Given the description of an element on the screen output the (x, y) to click on. 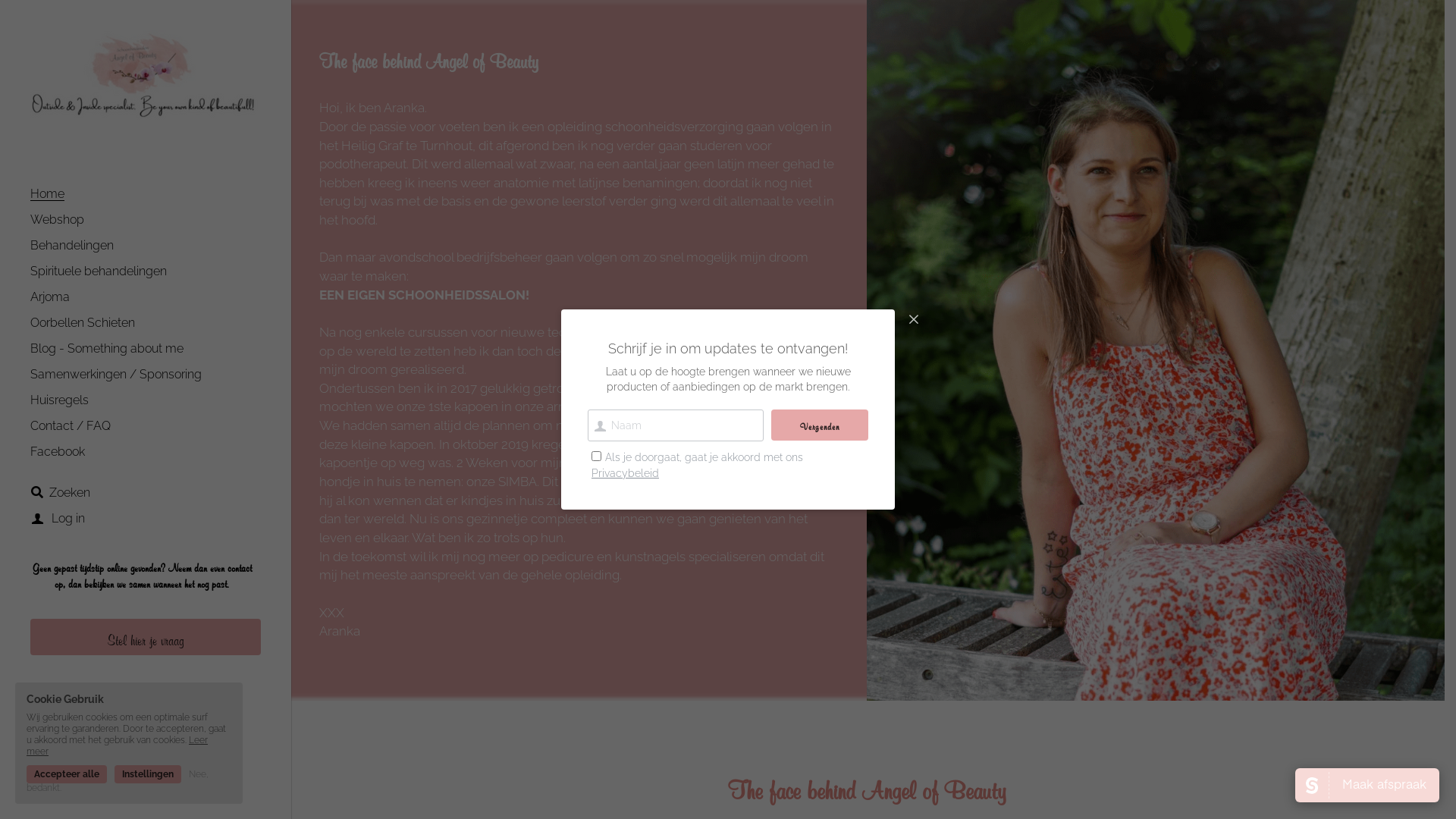
Webshop Element type: text (57, 219)
Stel hier je vraag Element type: text (145, 636)
Samenwerkingen / Sponsoring Element type: text (115, 373)
Huisregels Element type: text (59, 399)
Blog - Something about me Element type: text (106, 348)
Zoeken Element type: text (60, 492)
Home Element type: text (47, 193)
Leer meer Element type: text (116, 745)
Facebook Element type: text (57, 451)
Arjoma Element type: text (49, 296)
Spirituele behandelingen Element type: text (98, 270)
Oorbellen Schieten Element type: text (82, 322)
Behandelingen Element type: text (71, 244)
Contact / FAQ Element type: text (70, 425)
